Given the description of an element on the screen output the (x, y) to click on. 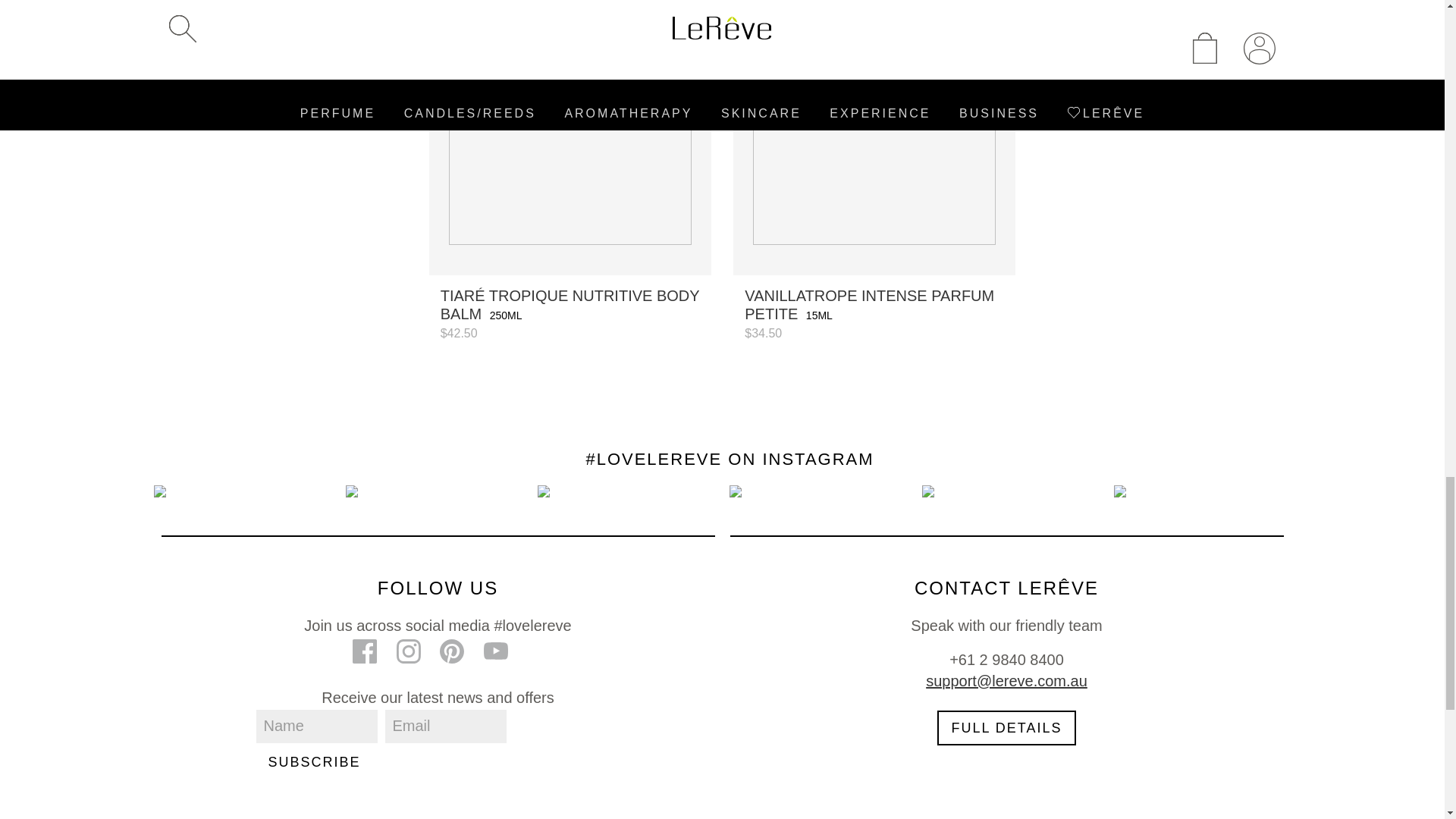
Subscribe (314, 761)
